Given the description of an element on the screen output the (x, y) to click on. 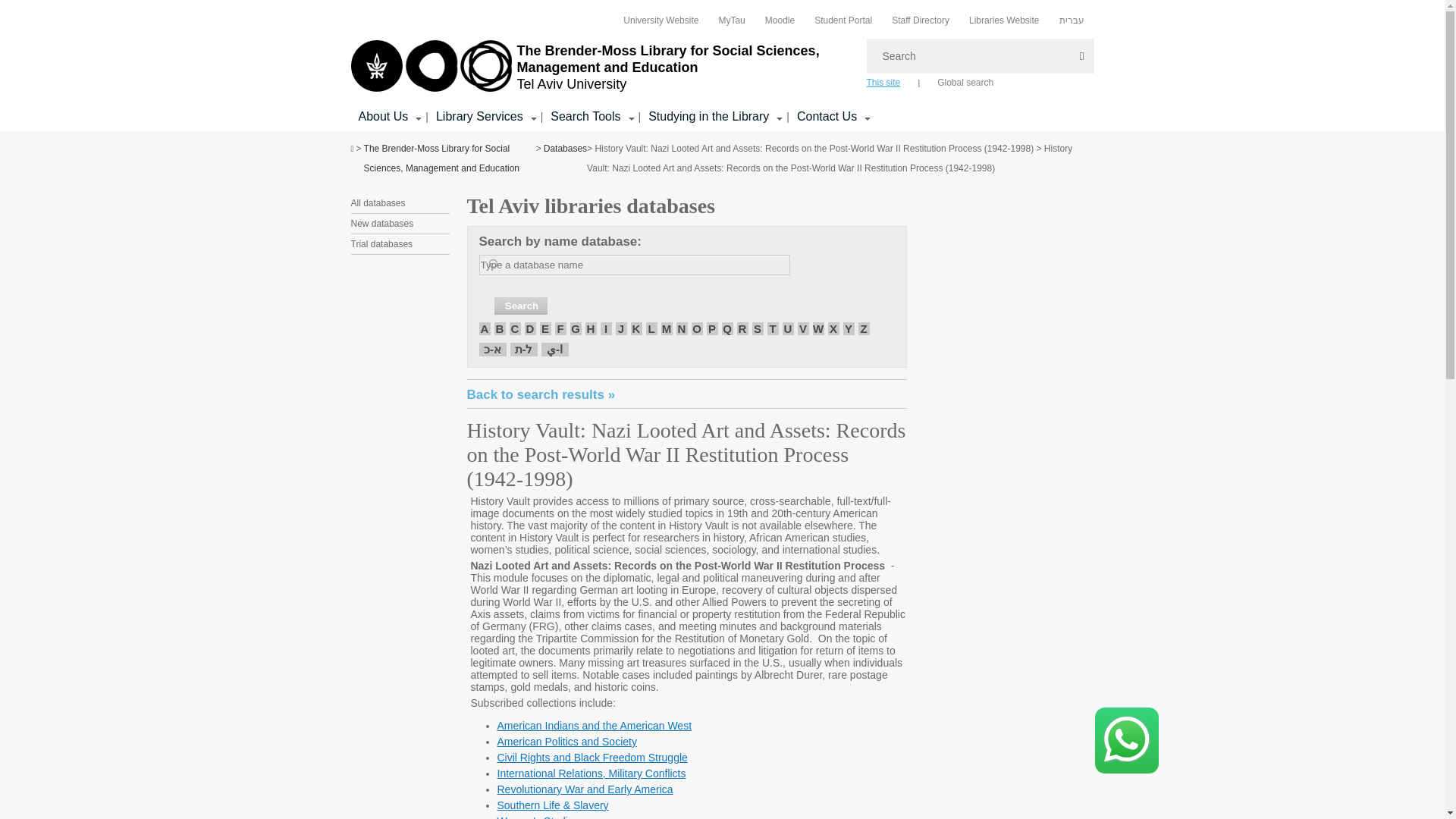
Go to homepage (600, 66)
Search (521, 305)
Moodle (779, 20)
About Us (382, 116)
University Website (660, 20)
Student Portal (842, 20)
Staff Directory (920, 20)
MyTau (730, 20)
Libraries Website (1004, 20)
